Given the description of an element on the screen output the (x, y) to click on. 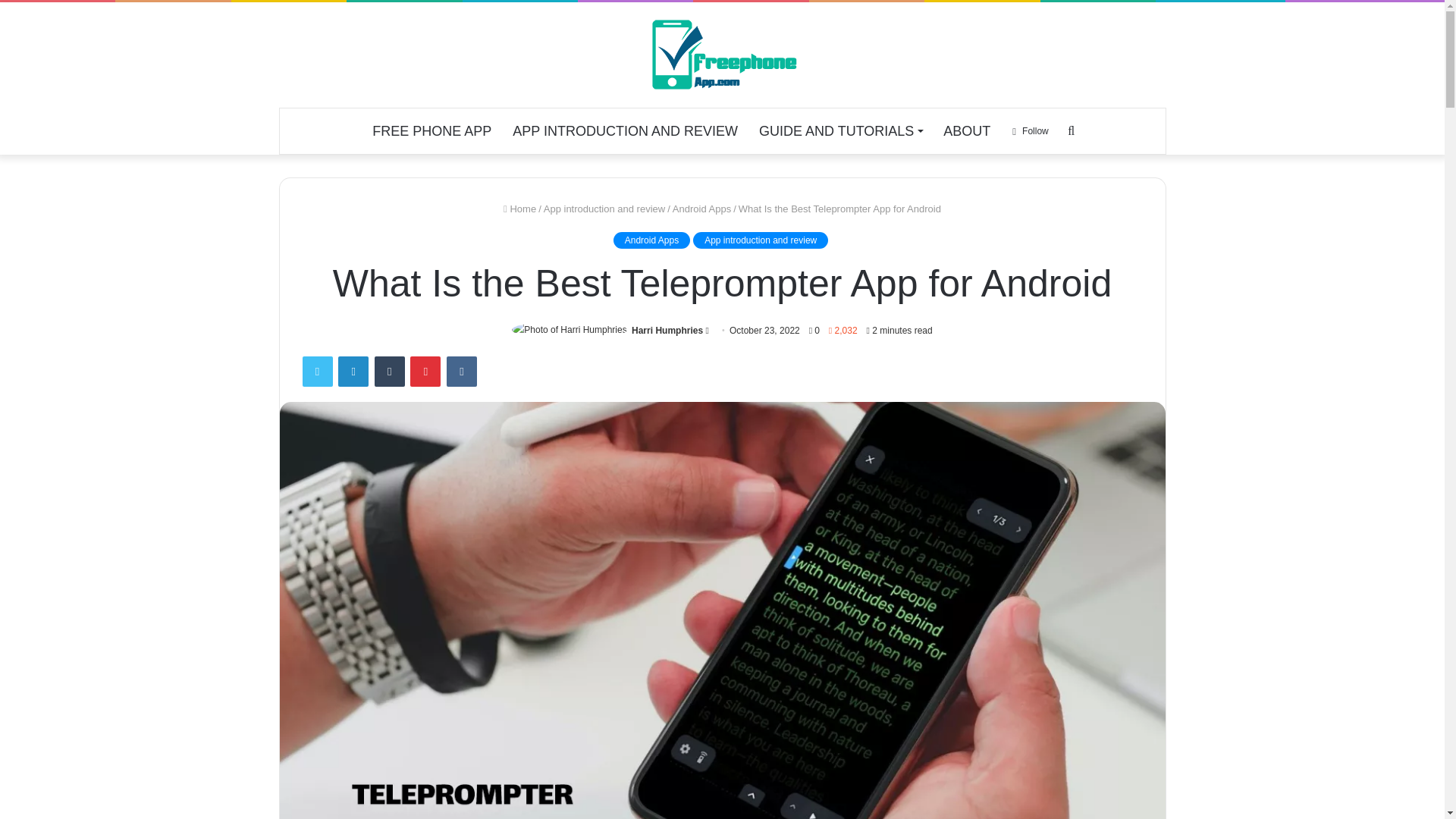
Android Apps (701, 208)
Follow (1030, 130)
LinkedIn (352, 371)
Twitter (316, 371)
App introduction and review (604, 208)
VKontakte (461, 371)
Harri Humphries (667, 330)
Android Apps (651, 239)
App introduction and review (760, 239)
Tumblr (389, 371)
Home (519, 208)
VKontakte (461, 371)
Free Phone App - Review of the best and most useful apps (721, 54)
